Given the description of an element on the screen output the (x, y) to click on. 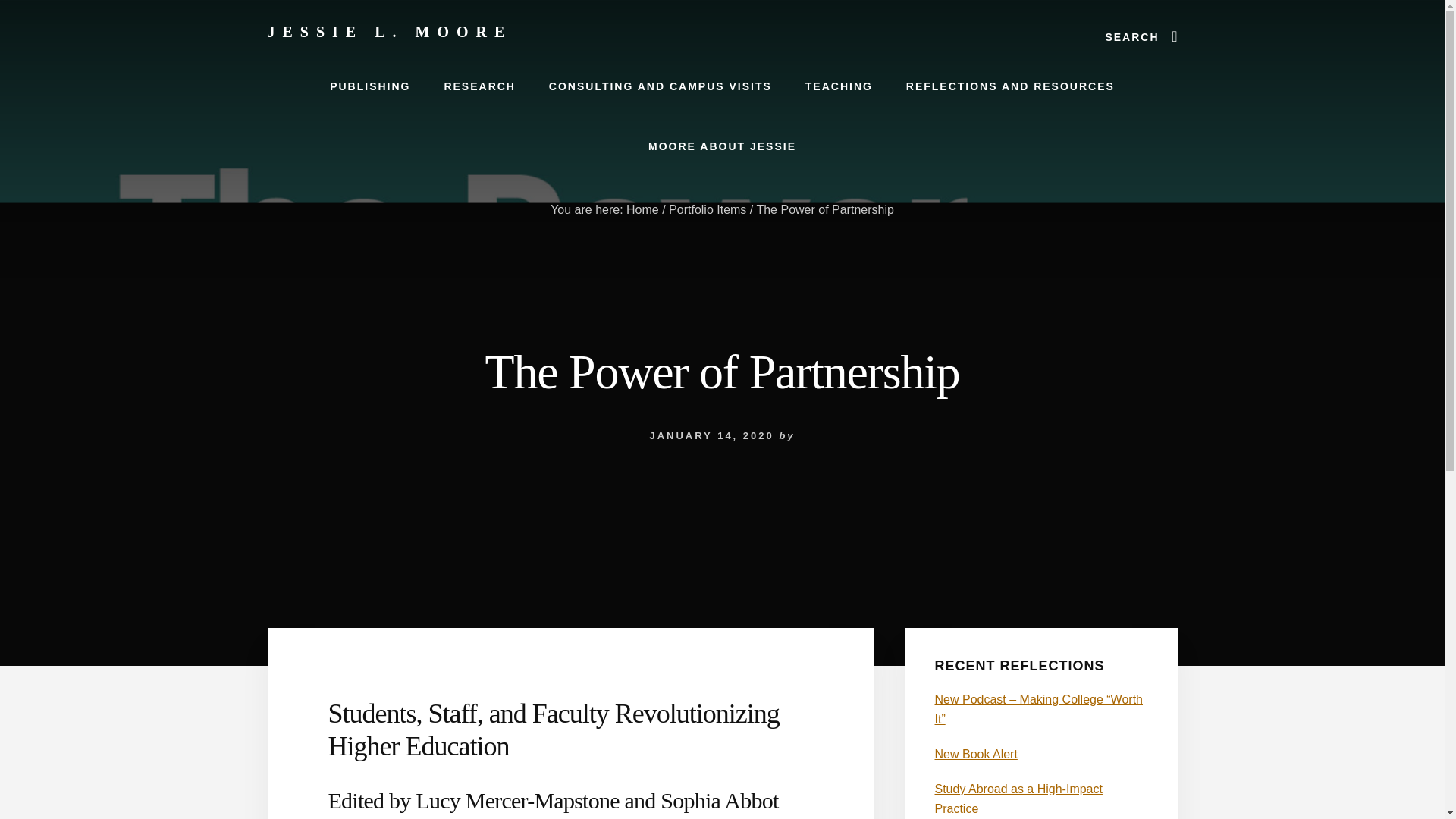
RESEARCH (479, 86)
REFLECTIONS AND RESOURCES (1010, 86)
PUBLISHING (369, 86)
Study Abroad as a High-Impact Practice (1018, 798)
MOORE ABOUT JESSIE (721, 146)
CONSULTING AND CAMPUS VISITS (660, 86)
